Given the description of an element on the screen output the (x, y) to click on. 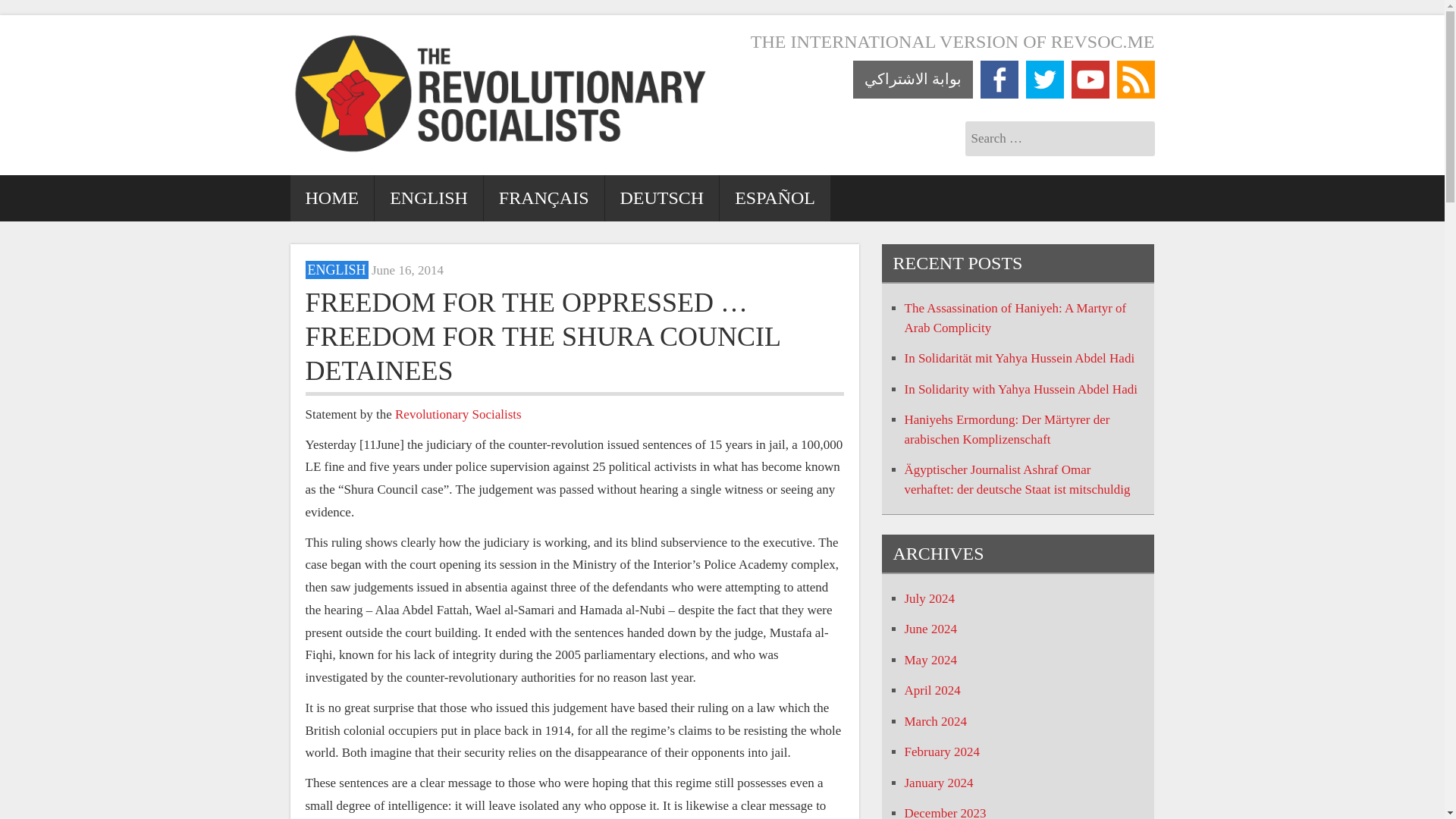
March 2024 (935, 721)
April 2024 (931, 690)
In Solidarity with Yahya Hussein Abdel Hadi (1020, 389)
December 2023 (944, 812)
The Assassination of Haniyeh: A Martyr of Arab Complicity (1014, 317)
February 2024 (941, 751)
DEUTSCH (662, 198)
May 2024 (930, 658)
ENGLISH (336, 270)
January 2024 (938, 781)
ENGLISH (428, 198)
June 2024 (930, 628)
Search (94, 10)
July 2024 (929, 598)
Revolutionary Socialists (457, 414)
